Given the description of an element on the screen output the (x, y) to click on. 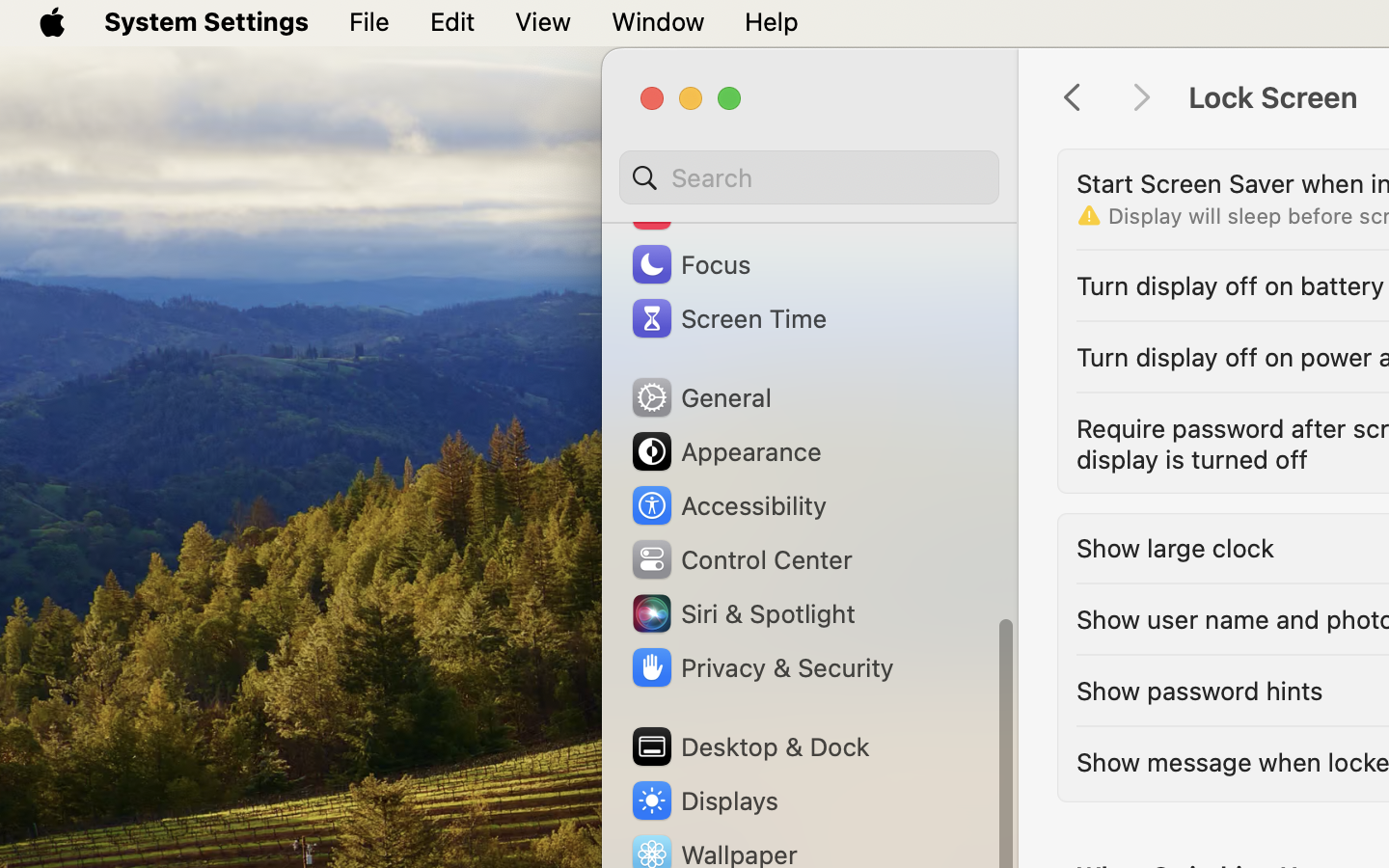
Show large clock Element type: AXStaticText (1175, 547)
General Element type: AXStaticText (699, 397)
Show password hints Element type: AXStaticText (1199, 690)
Control Center Element type: AXStaticText (740, 559)
Accessibility Element type: AXStaticText (727, 505)
